Given the description of an element on the screen output the (x, y) to click on. 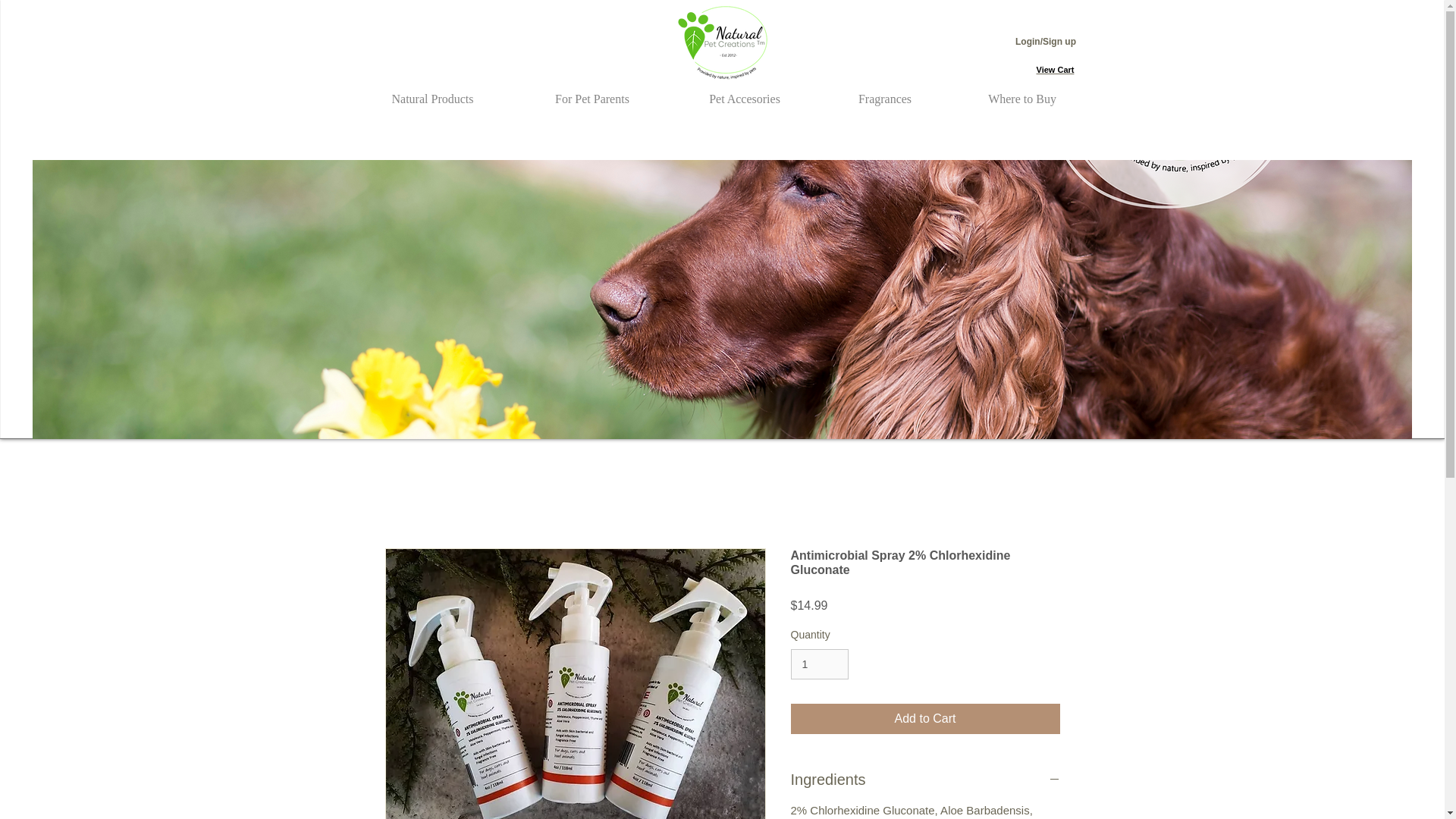
For Pet Parents (591, 92)
Where to Buy (1022, 92)
View Cart (1055, 69)
Add to Cart (924, 718)
1 (818, 664)
Fragrances (884, 92)
Ingredients (924, 779)
